Given the description of an element on the screen output the (x, y) to click on. 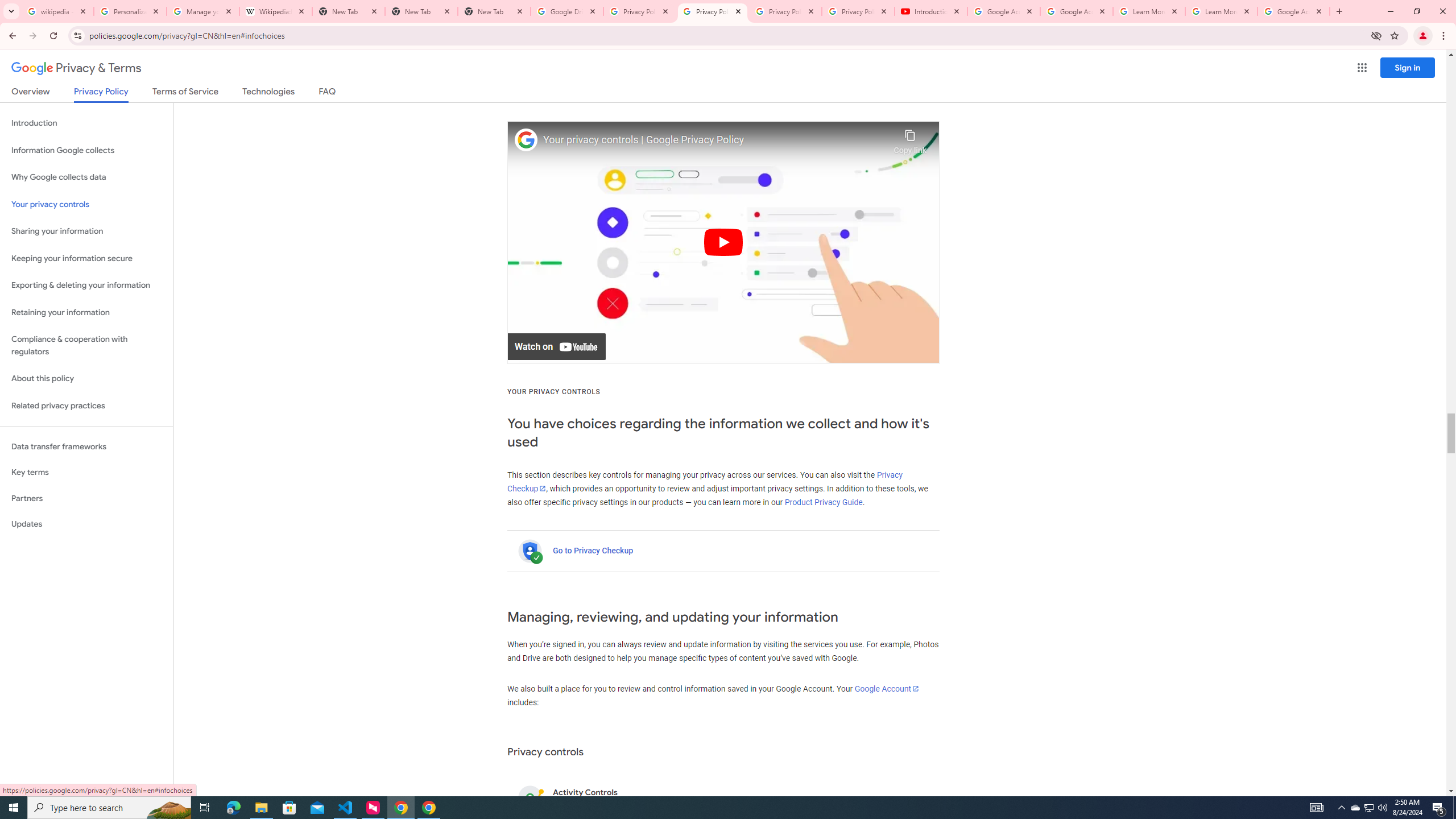
Google Account Help (1076, 11)
Play (723, 242)
Personalization & Google Search results - Google Search Help (129, 11)
Wikipedia:Edit requests - Wikipedia (275, 11)
Google Account (887, 688)
Related privacy practices (86, 405)
